Given the description of an element on the screen output the (x, y) to click on. 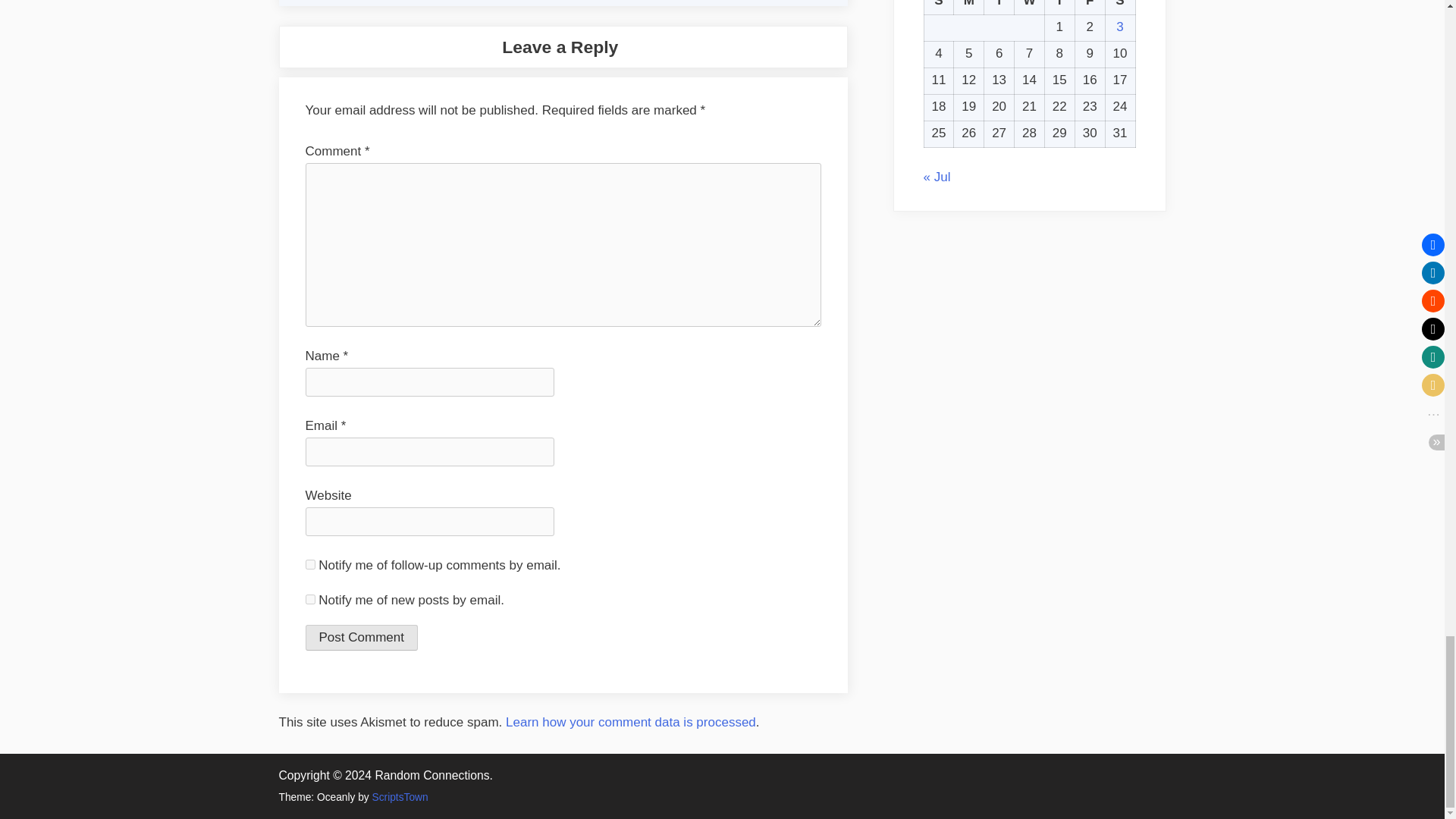
Post Comment (360, 637)
subscribe (309, 599)
subscribe (309, 564)
